Given the description of an element on the screen output the (x, y) to click on. 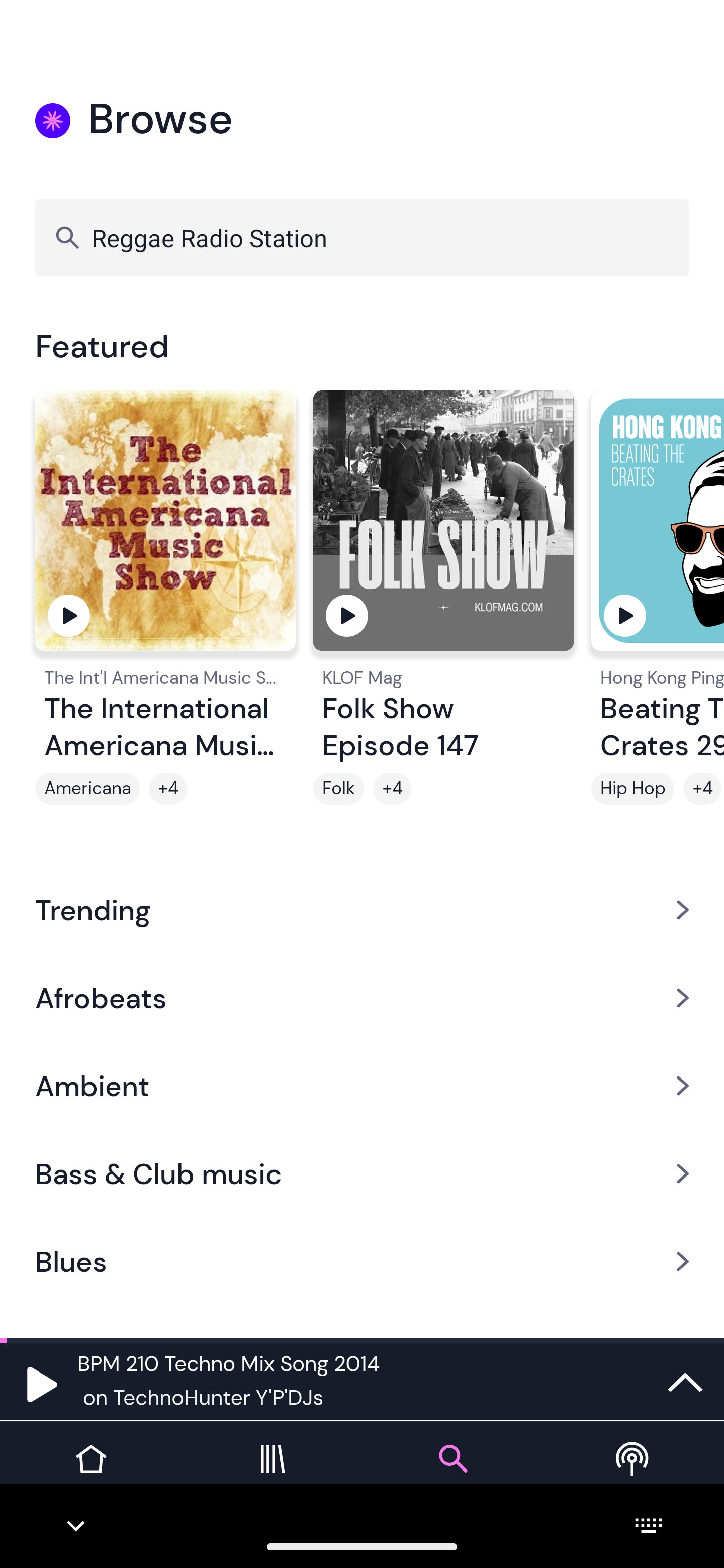
Reggae Radio Station (361, 237)
Americana (87, 788)
Folk (338, 788)
Hip Hop (632, 788)
Trending (361, 909)
Afrobeats (361, 997)
Ambient (361, 1085)
Bass & Club music (361, 1174)
Blues (361, 1262)
Home tab (90, 1473)
Library tab (271, 1473)
Browse tab (452, 1473)
Live tab (633, 1473)
